Given the description of an element on the screen output the (x, y) to click on. 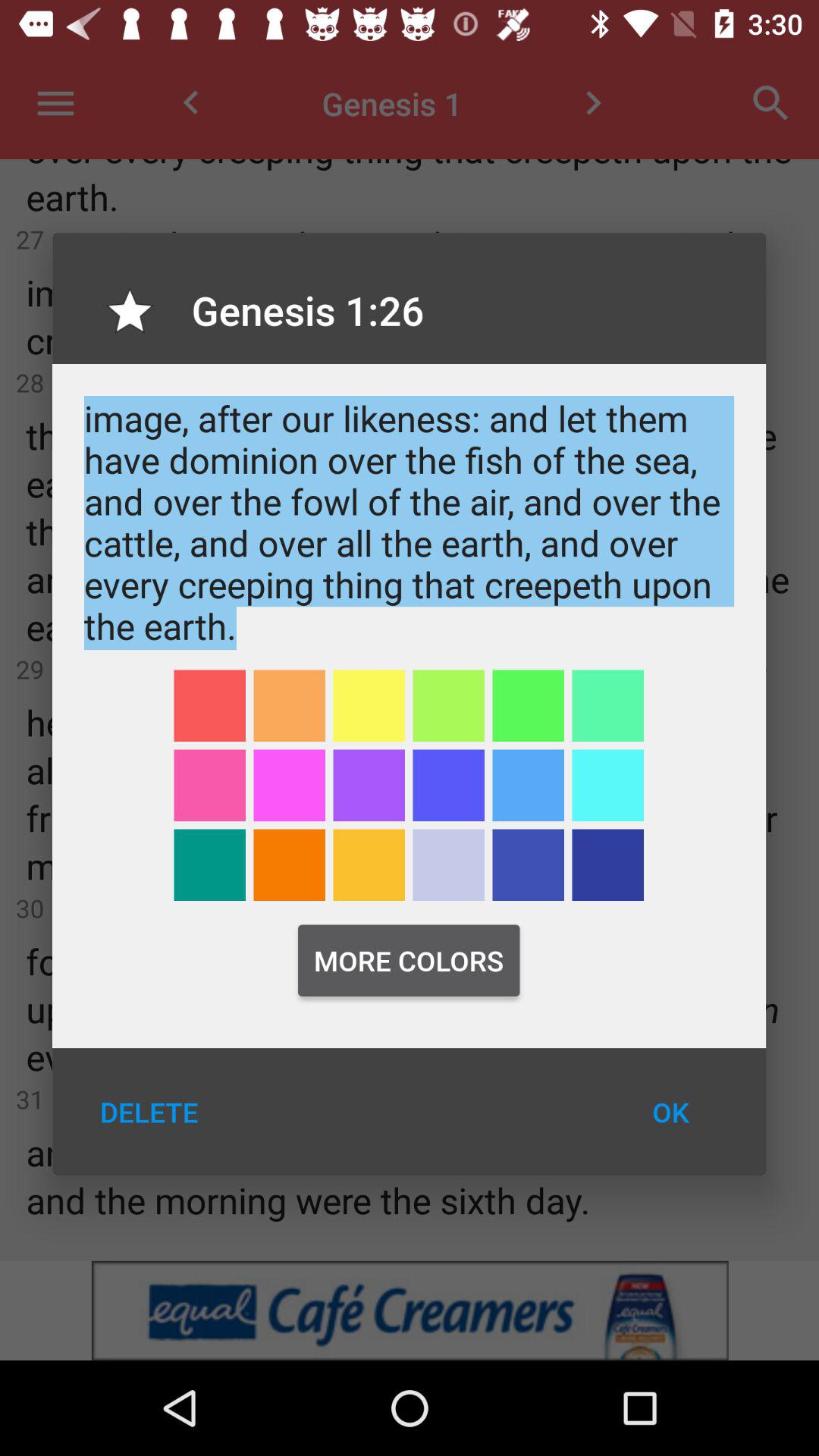
select color (448, 705)
